Given the description of an element on the screen output the (x, y) to click on. 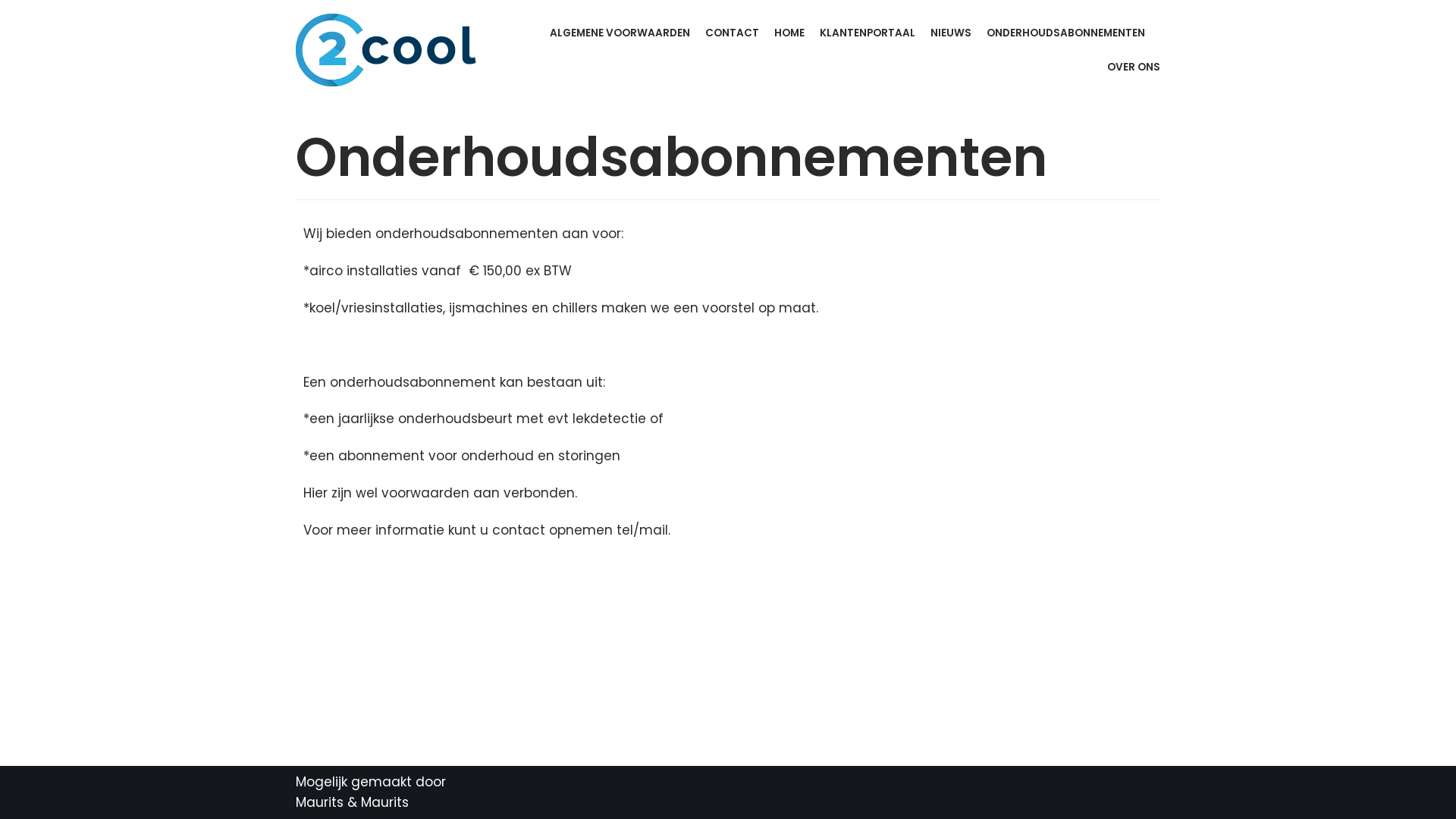
OVER ONS Element type: text (1133, 66)
CONTACT Element type: text (732, 32)
HOME Element type: text (789, 32)
ONDERHOUDSABONNEMENTEN Element type: text (1065, 32)
2Cool B.V. Element type: hover (386, 49)
KLANTENPORTAAL Element type: text (867, 32)
NIEUWS Element type: text (950, 32)
Meteen naar de inhoud Element type: text (15, 7)
ALGEMENE VOORWAARDEN Element type: text (619, 32)
